Given the description of an element on the screen output the (x, y) to click on. 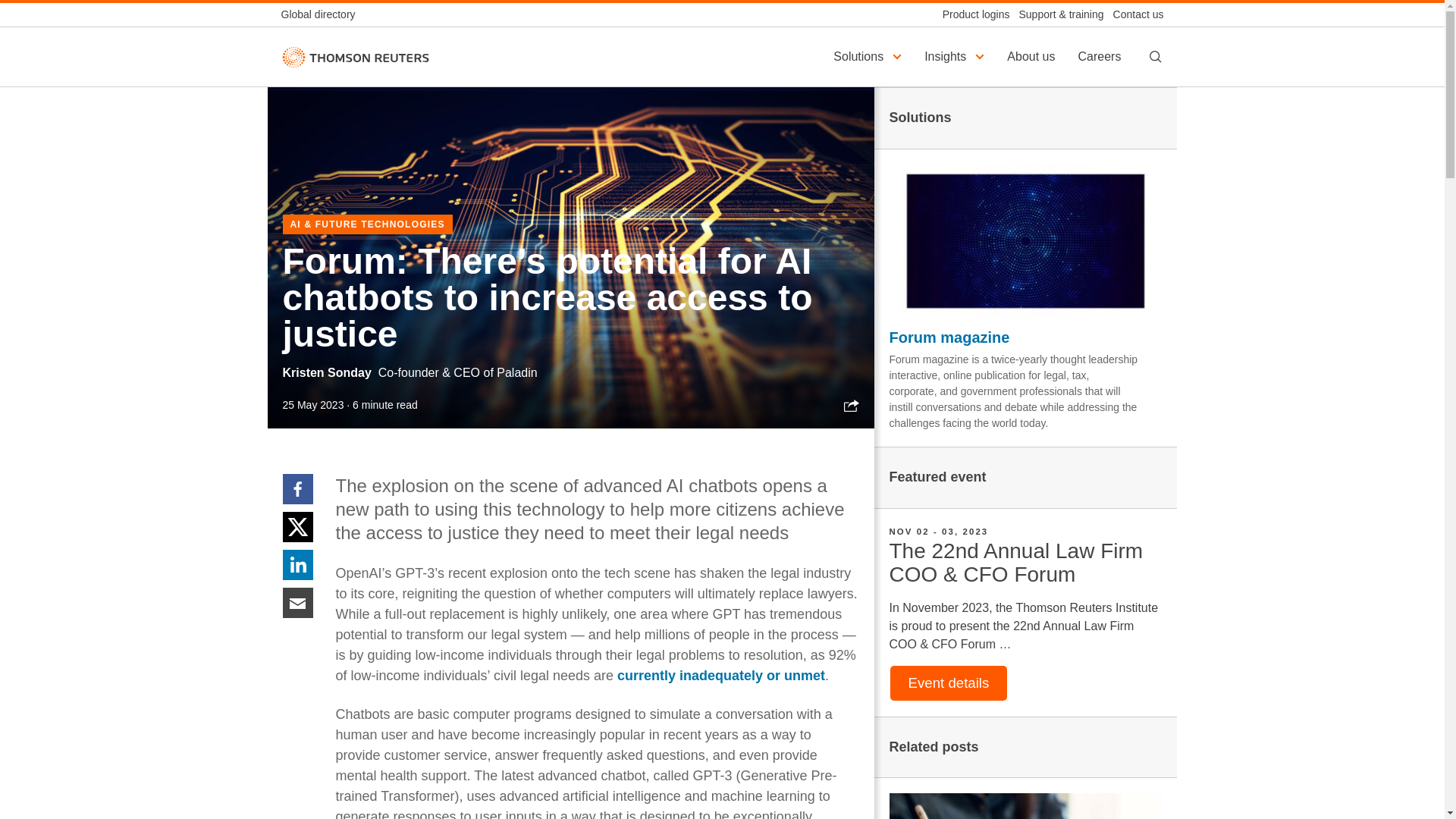
About us (1032, 56)
Product logins (971, 14)
Email (297, 601)
Linkedin (297, 563)
Global directory (322, 14)
Solutions (869, 56)
25 May 2023 (312, 404)
Twitter (297, 525)
Thomson Reuters (355, 56)
Facebook (297, 487)
Careers (1101, 56)
Contact us (1133, 14)
Insights (956, 56)
